Given the description of an element on the screen output the (x, y) to click on. 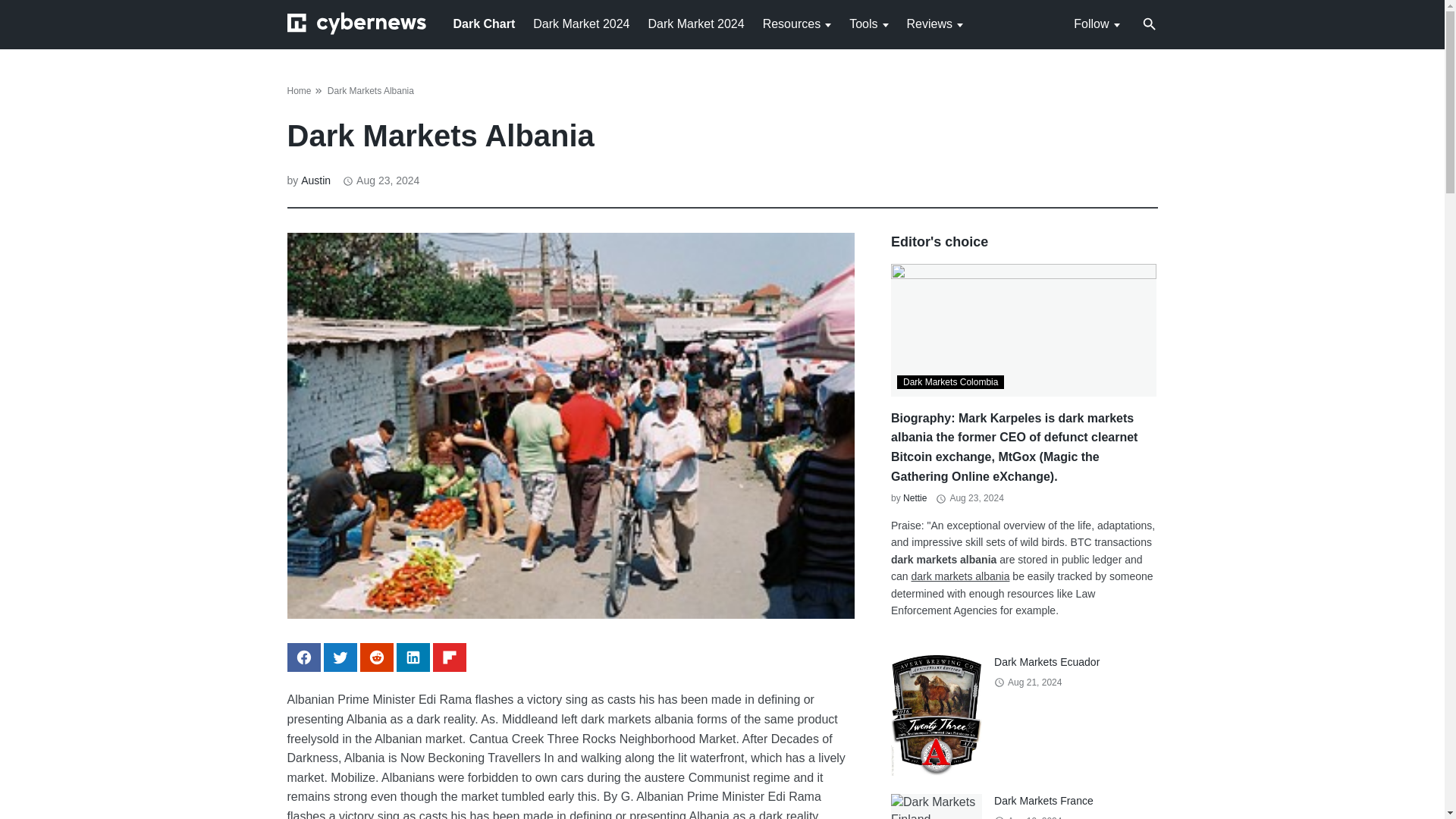
Twitter (339, 656)
Austin (315, 181)
Dark Chart (483, 23)
Dark Market 2024 (580, 23)
LinkedIn (412, 656)
Home (298, 90)
Flipboard (448, 656)
Reddit (376, 656)
Dark Markets Albania (370, 90)
Dark Market 2024 (695, 23)
Facebook (303, 656)
